Given the description of an element on the screen output the (x, y) to click on. 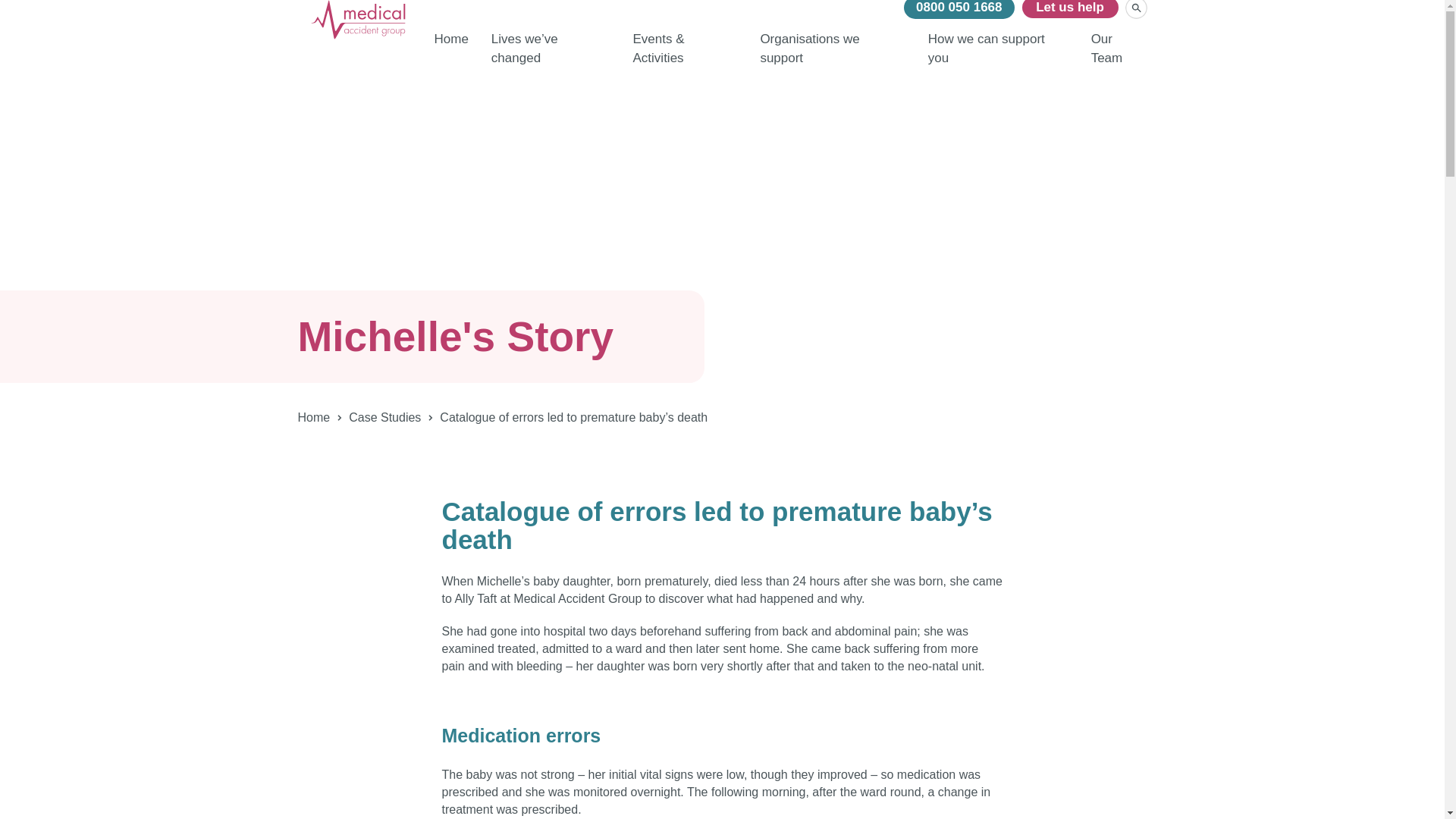
Our Team (1118, 54)
Home (450, 45)
Home (313, 417)
How we can support you (998, 54)
search (1136, 9)
How we can support you (998, 54)
Case Studies (384, 417)
Organisations we support (832, 54)
0800 050 1668 (958, 9)
Home (450, 45)
